Given the description of an element on the screen output the (x, y) to click on. 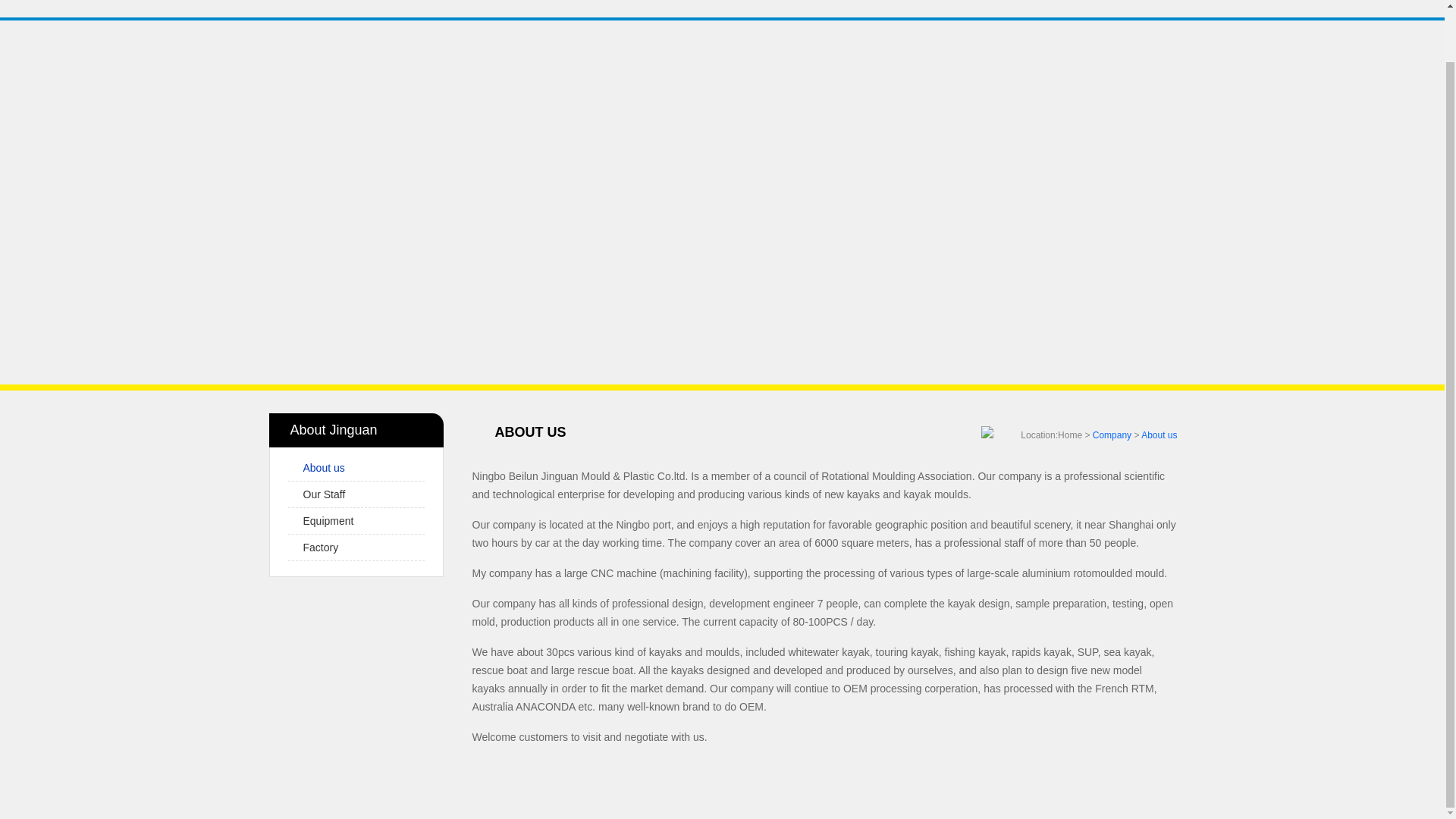
Contact us (1123, 0)
Factory (320, 547)
About us (323, 467)
Equipment (327, 521)
Company (1112, 434)
Factory (320, 547)
Video (1048, 0)
Products (972, 0)
Company (896, 0)
About us (1158, 434)
About us (323, 467)
Our Staff (324, 494)
Home (821, 0)
Home (1069, 434)
Equipment (327, 521)
